Given the description of an element on the screen output the (x, y) to click on. 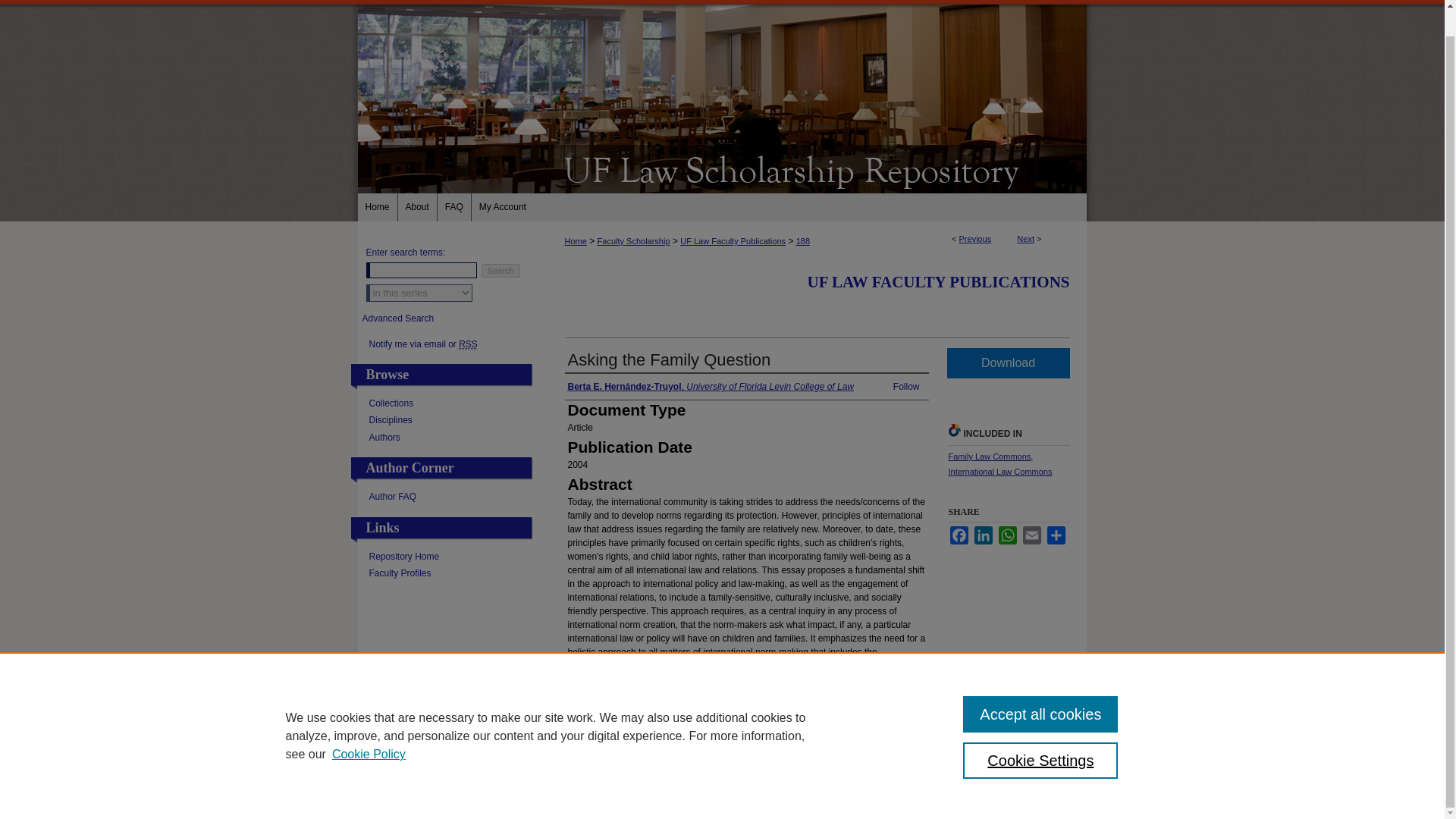
Search (500, 270)
Faculty Scholarship (632, 240)
Email or RSS Notifications (450, 344)
FAQ (454, 207)
188 (802, 240)
Asking the Family Question (668, 359)
Follow (906, 386)
My Account (502, 207)
Really Simple Syndication (467, 344)
Email (1031, 535)
Family Law Commons (988, 456)
Share (1055, 535)
Collections (450, 403)
Authors (450, 437)
Download (1007, 363)
